Given the description of an element on the screen output the (x, y) to click on. 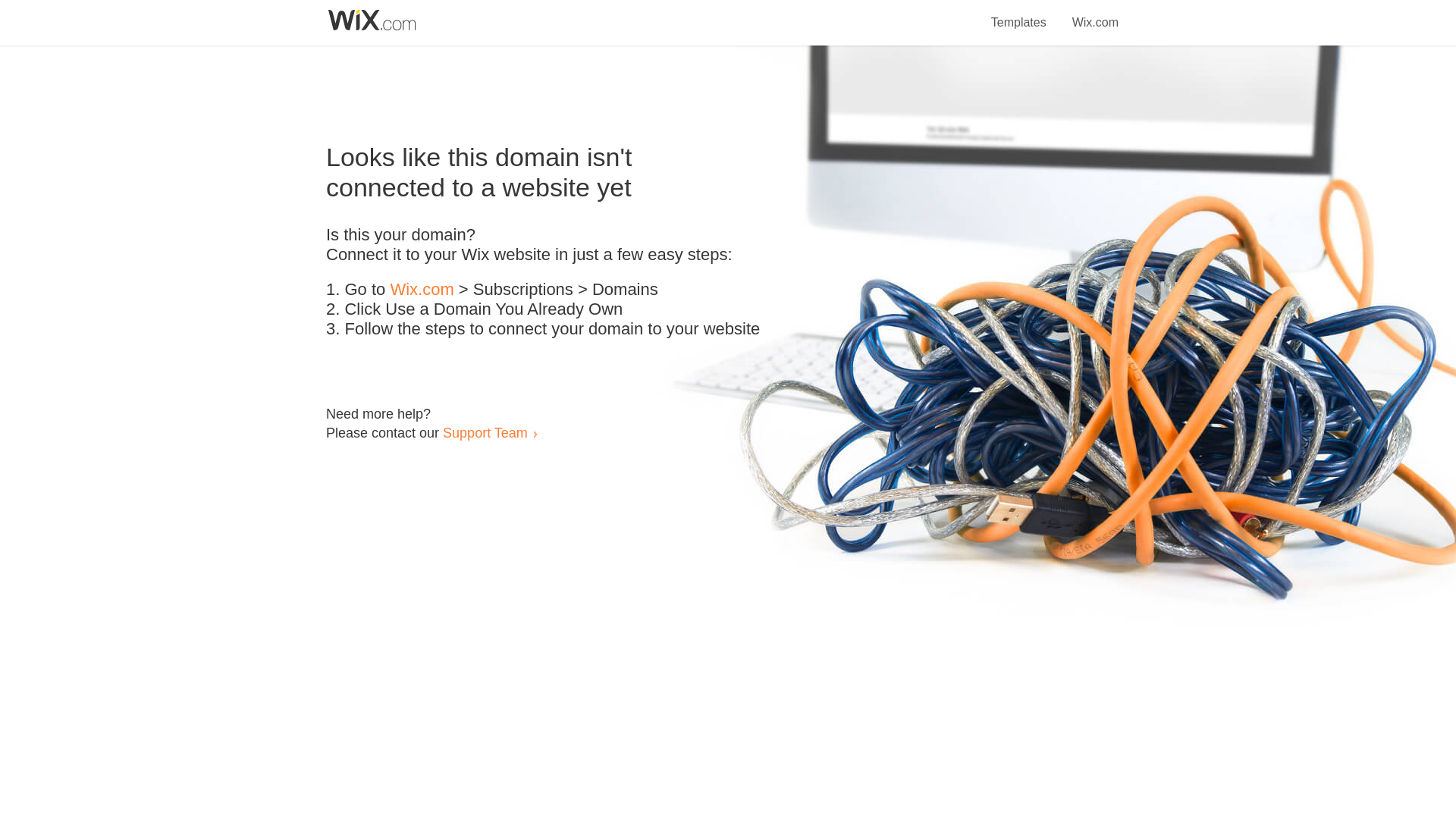
Wix.com (1095, 14)
Wix.com (421, 289)
Support Team (484, 432)
Templates (1018, 14)
